Given the description of an element on the screen output the (x, y) to click on. 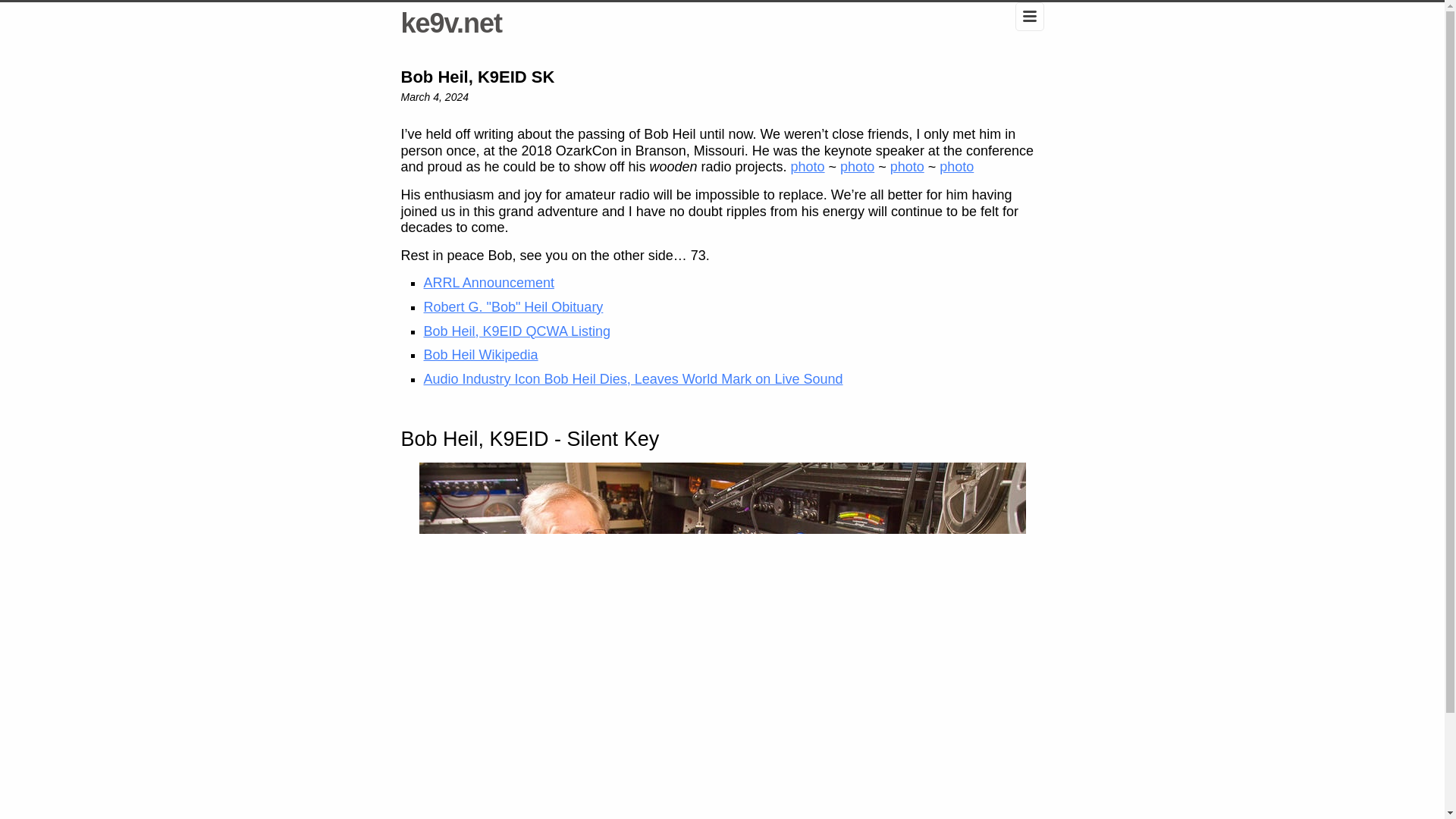
photo (857, 166)
photo (807, 166)
ke9v.net (450, 22)
photo (956, 166)
photo (906, 166)
Bob Heil Wikipedia (480, 354)
Robert G. "Bob" Heil Obituary (512, 306)
ARRL Announcement (488, 282)
Bob Heil, K9EID QCWA Listing (516, 331)
